Given the description of an element on the screen output the (x, y) to click on. 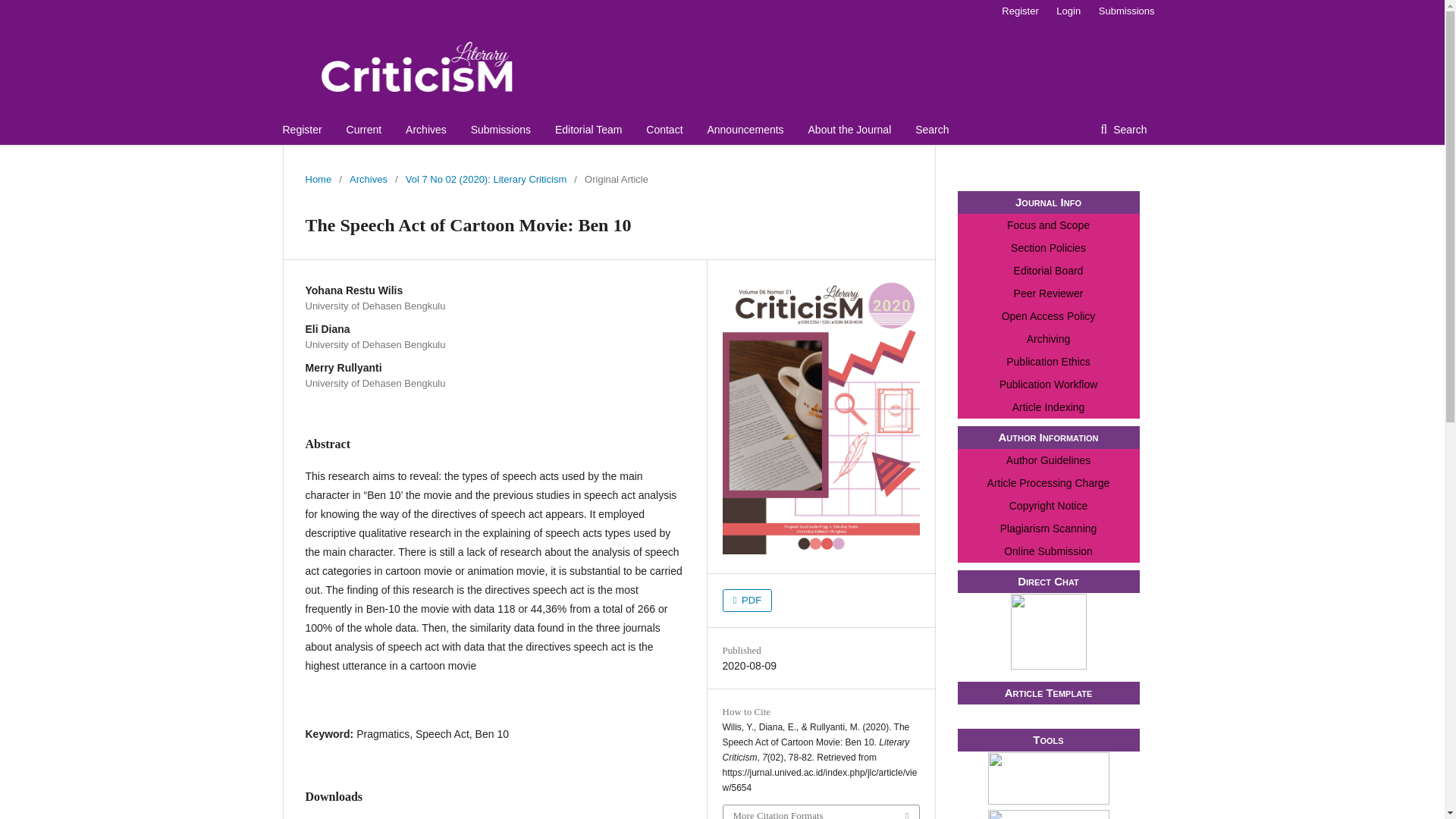
PDF (746, 599)
Submissions (1122, 11)
Login (1067, 11)
Editorial Team (587, 129)
Register (1019, 11)
Announcements (744, 129)
Contact (664, 129)
Submissions (500, 129)
Archives (426, 129)
Archives (368, 179)
Current (363, 129)
More Citation Formats (820, 812)
About the Journal (849, 129)
Home (317, 179)
Register (301, 129)
